Given the description of an element on the screen output the (x, y) to click on. 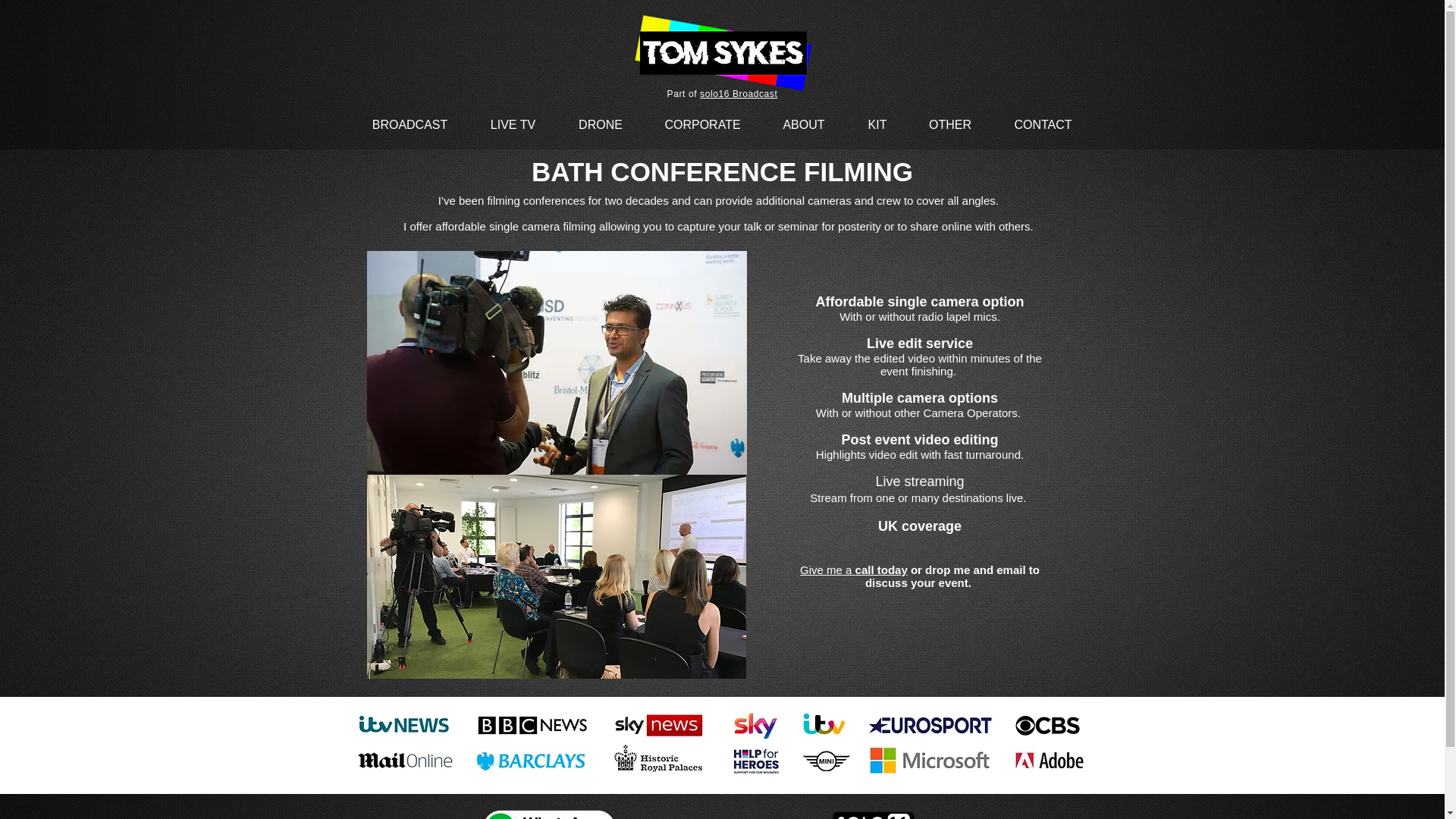
solo16 Broadcast (738, 93)
ABOUT (804, 124)
Event filming Bath (555, 573)
CORPORATE (703, 124)
Bath conference filming (556, 362)
BROADCAST (409, 124)
CONTACT (1042, 124)
KIT (876, 124)
LIVE TV (512, 124)
DRONE (599, 124)
Live streaming (919, 481)
London Live streaming (400, 784)
